Given the description of an element on the screen output the (x, y) to click on. 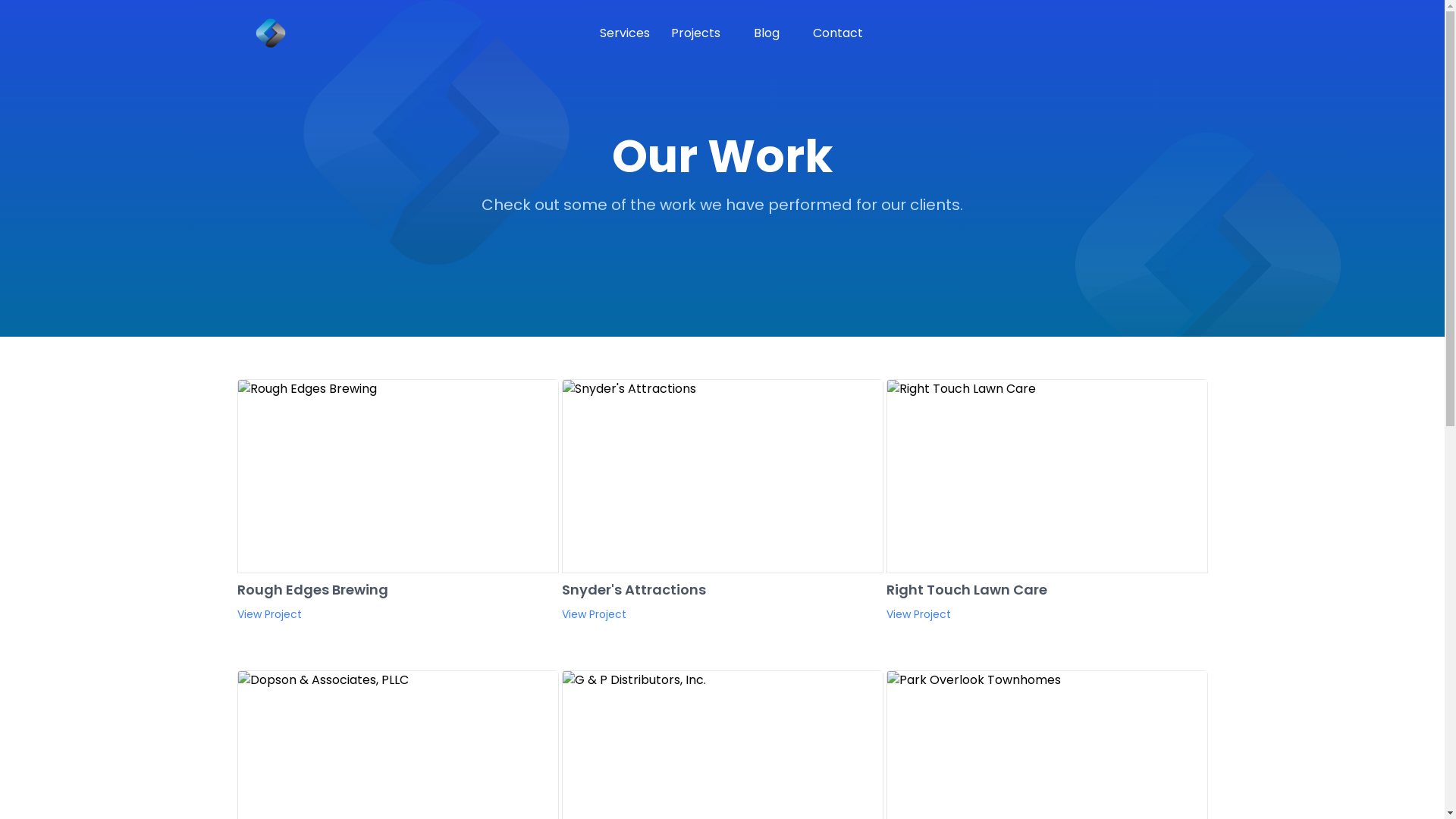
View Project Element type: text (593, 613)
Services Element type: text (625, 32)
View Project Element type: text (917, 613)
View Project Element type: text (268, 613)
Projects Element type: text (695, 32)
Blog Element type: text (766, 32)
Contact Element type: text (837, 32)
